Given the description of an element on the screen output the (x, y) to click on. 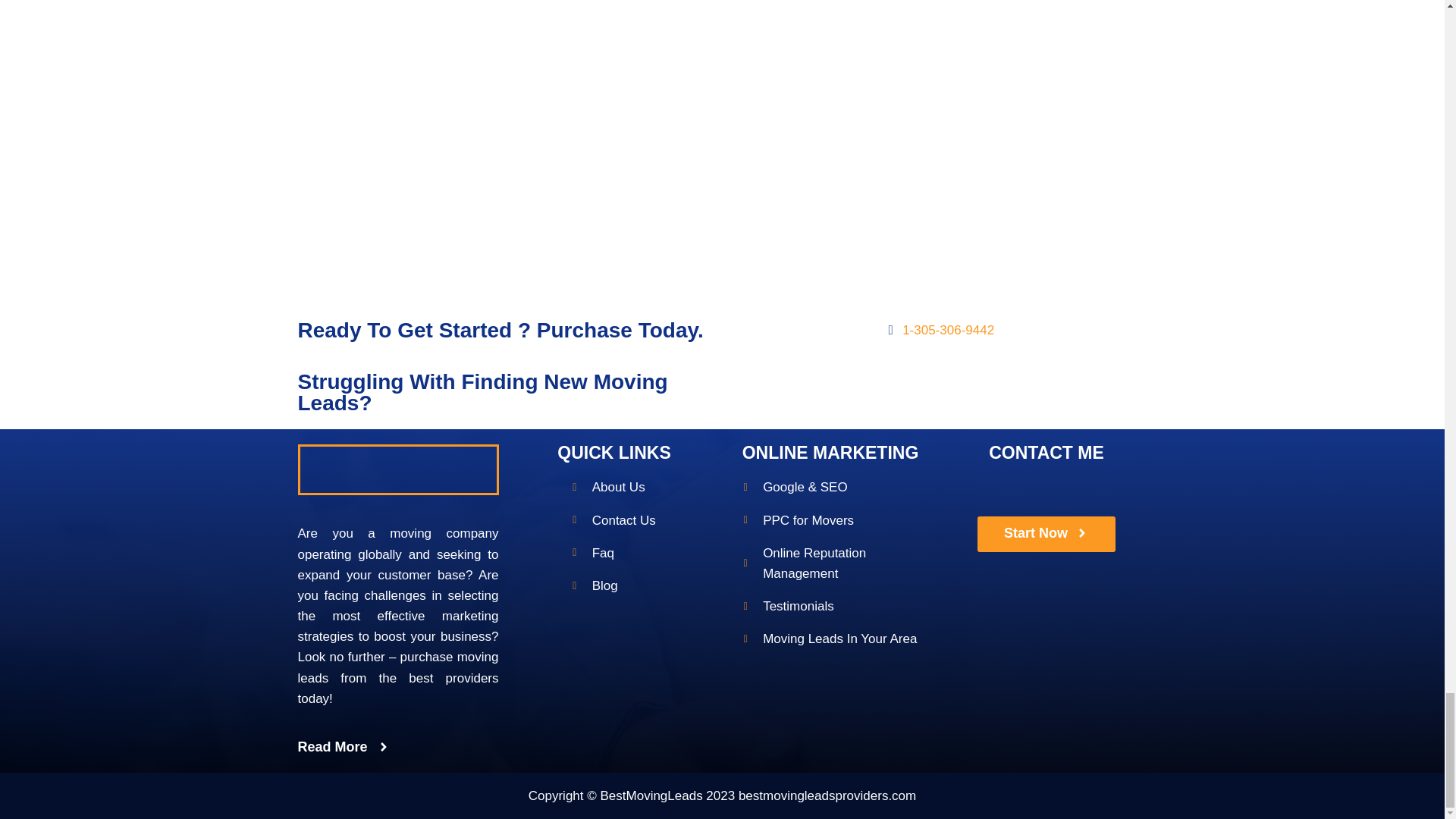
Contact Us (614, 520)
Start Now (939, 371)
Read More (343, 747)
About Us (614, 486)
1-305-306-9442 (938, 330)
Faq (614, 552)
